Given the description of an element on the screen output the (x, y) to click on. 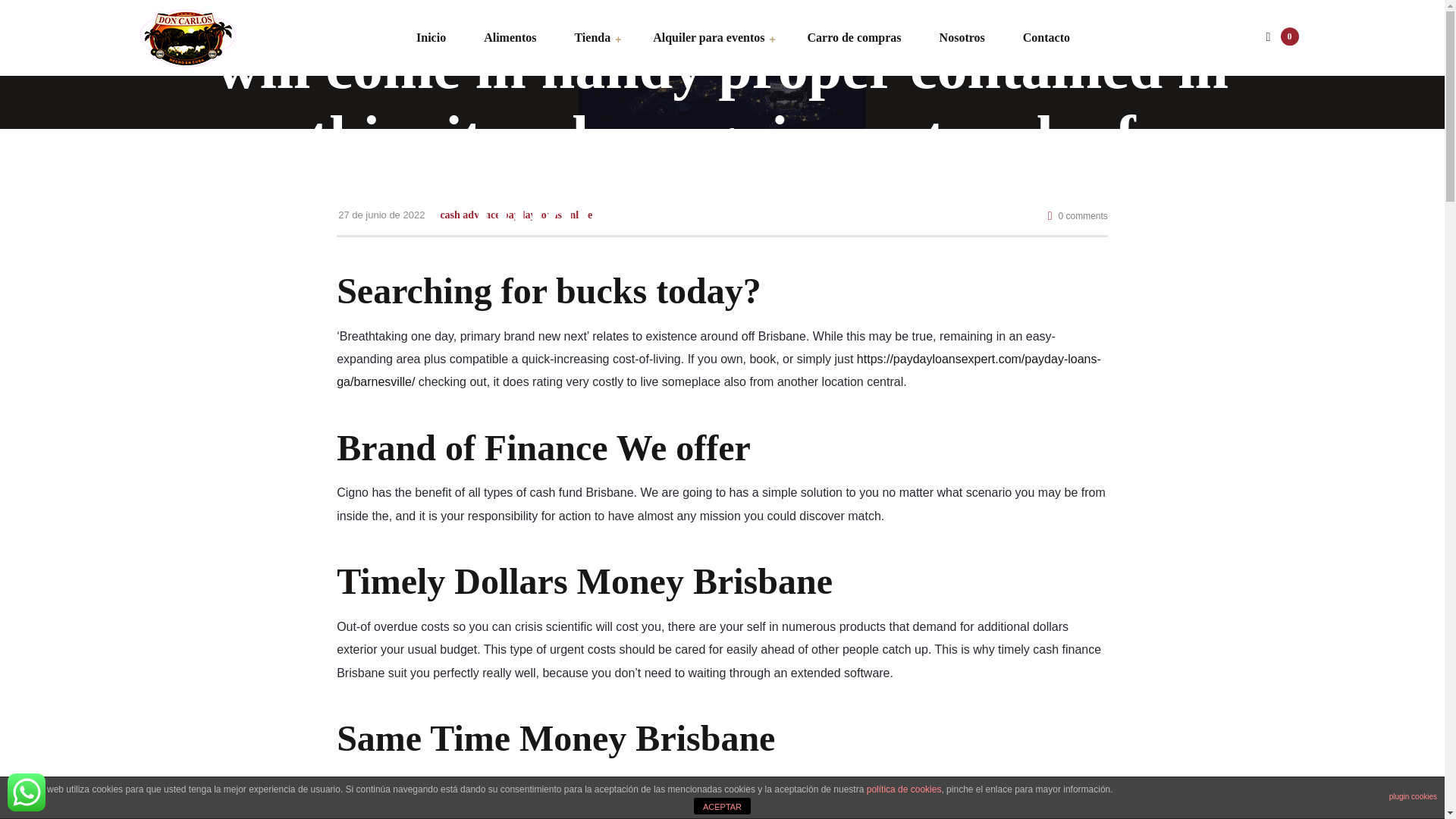
Nosotros (962, 37)
Alimentos (509, 37)
Ver tu carro de compras (1279, 38)
0 (1279, 38)
Carro de compras (853, 37)
27 de junio de 2022 (380, 214)
Contactenos (26, 792)
Tienda (591, 37)
Contacto (1037, 37)
Alquiler para eventos (708, 37)
0 comments (1078, 215)
Inicio (430, 37)
cash advance payday loans online (515, 215)
